Given the description of an element on the screen output the (x, y) to click on. 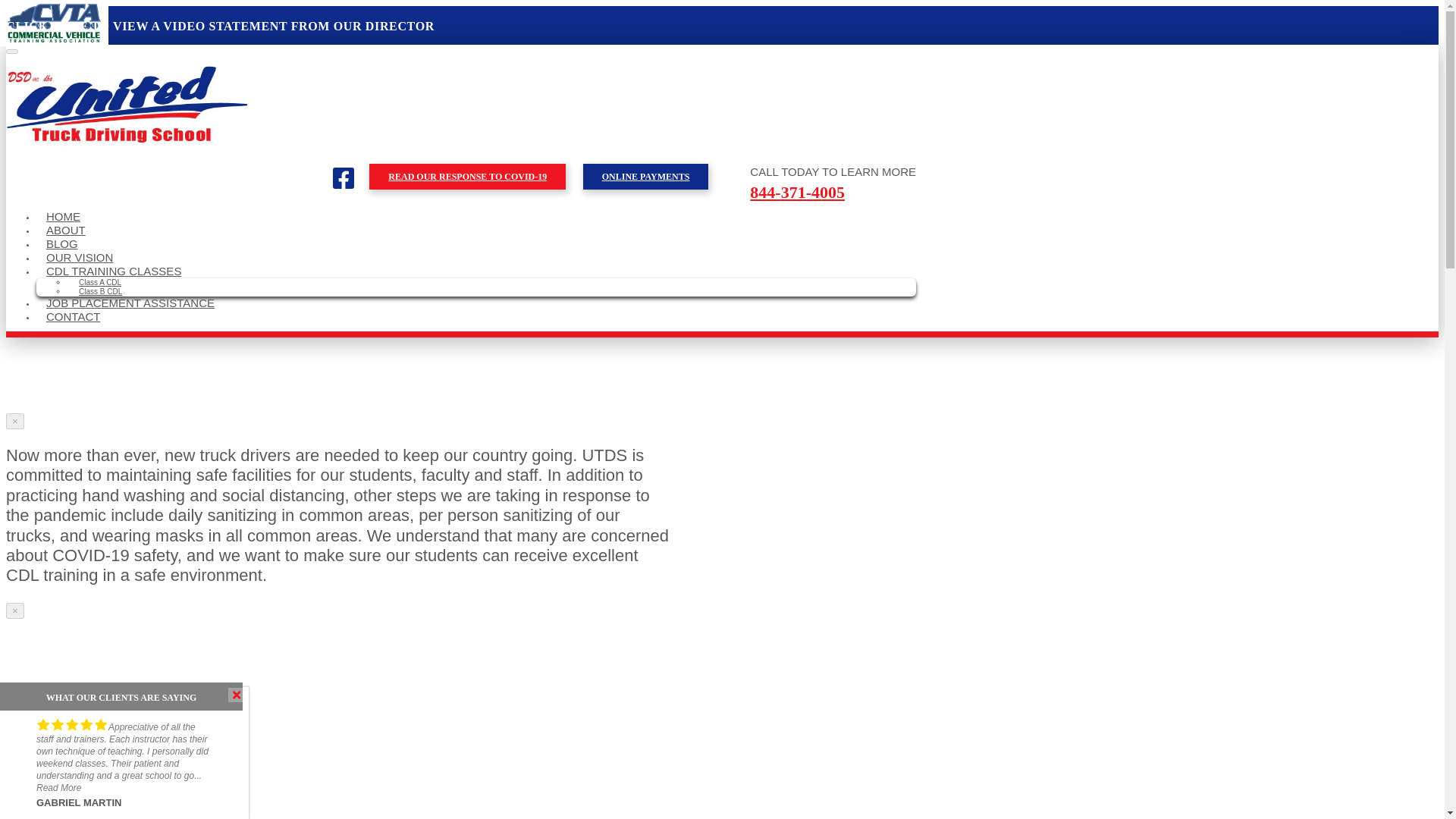
Job Placement Assistance (130, 302)
BLOG (61, 243)
Class A CDL (99, 282)
About (66, 229)
... Read More (119, 781)
CDL TRAINING CLASSES (113, 270)
ONLINE PAYMENTS (646, 176)
Class B CDL (99, 291)
844-371-4005 (796, 191)
CDL Training CLASSES (113, 270)
CLICK HERE (46, 25)
OUR VISION (79, 256)
READ OUR RESPONSE TO COVID-19 (467, 176)
Our Vision (79, 256)
Class B CDL (99, 291)
